Given the description of an element on the screen output the (x, y) to click on. 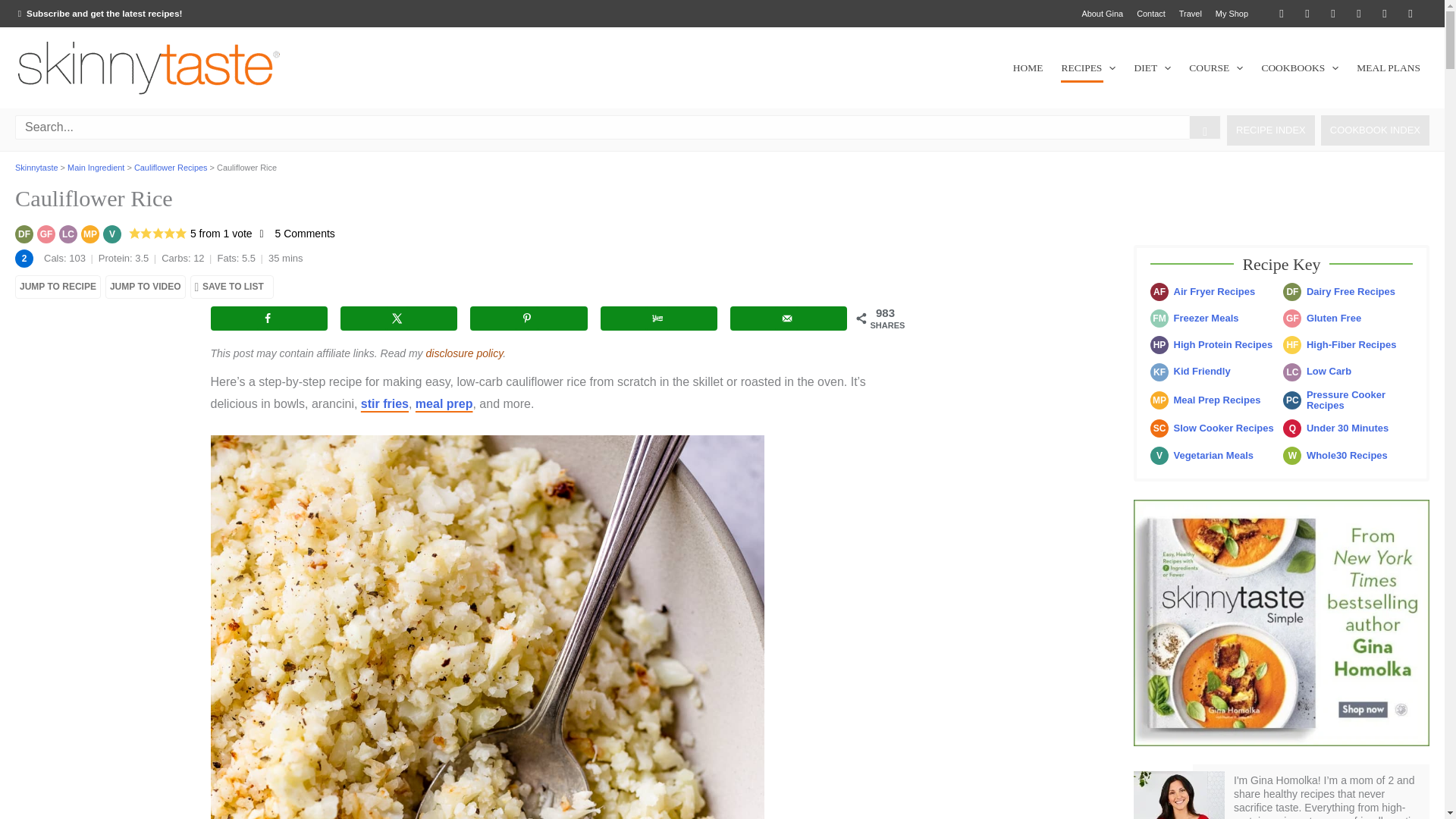
COURSE (1215, 67)
Travel (1190, 13)
HOME (1028, 67)
Subscribe and get the latest recipes! (98, 13)
Pinterest (1332, 13)
My Shop (1231, 13)
DIET (1151, 67)
About Gina (1101, 13)
Youtube (1384, 13)
Contact (1150, 13)
Gluten Free (46, 234)
Dairy Free Recipes (23, 234)
Facebook (1307, 13)
Tiktok (1410, 13)
Twitter (1280, 13)
